Given the description of an element on the screen output the (x, y) to click on. 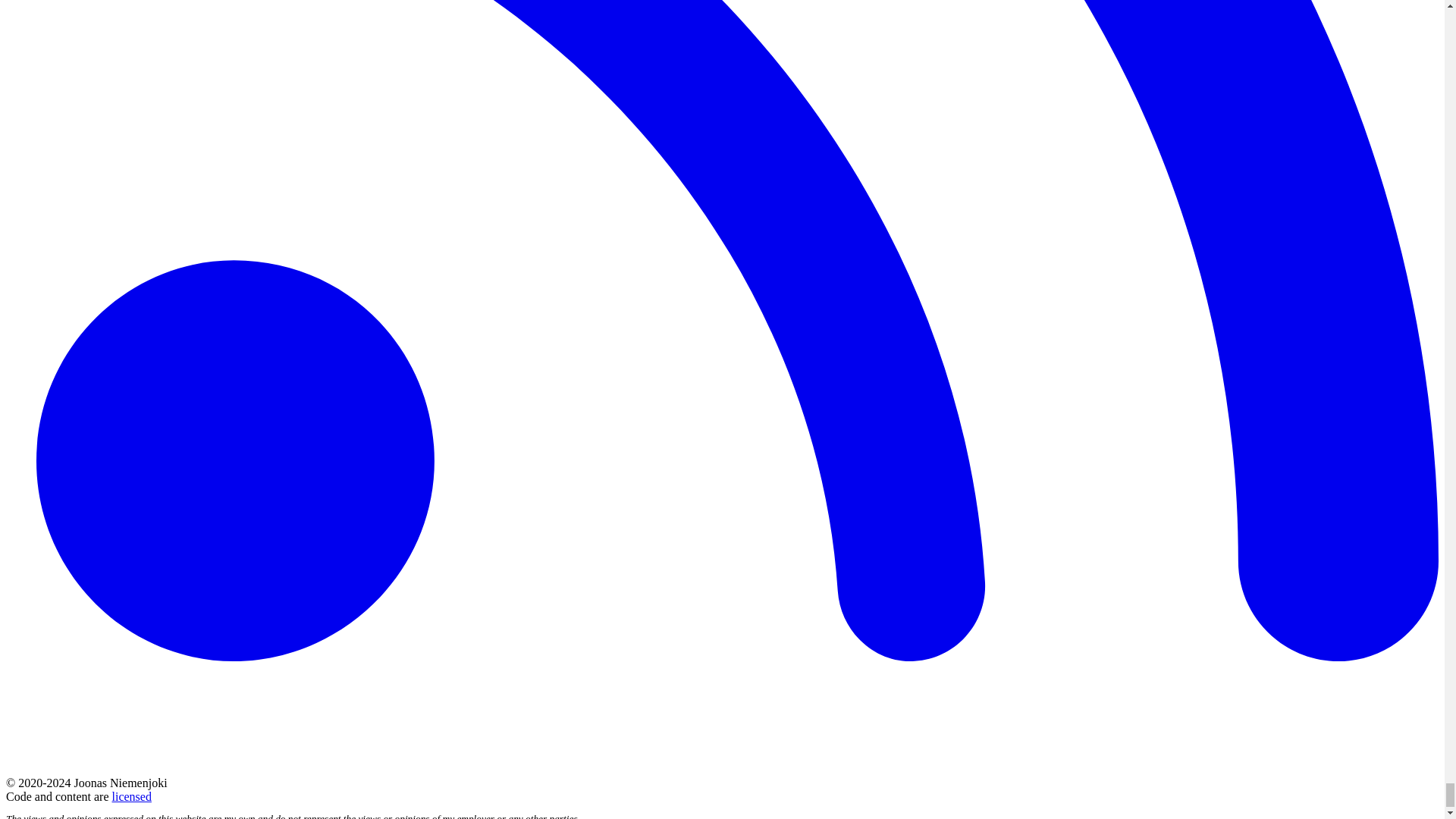
licensed (131, 796)
